Given the description of an element on the screen output the (x, y) to click on. 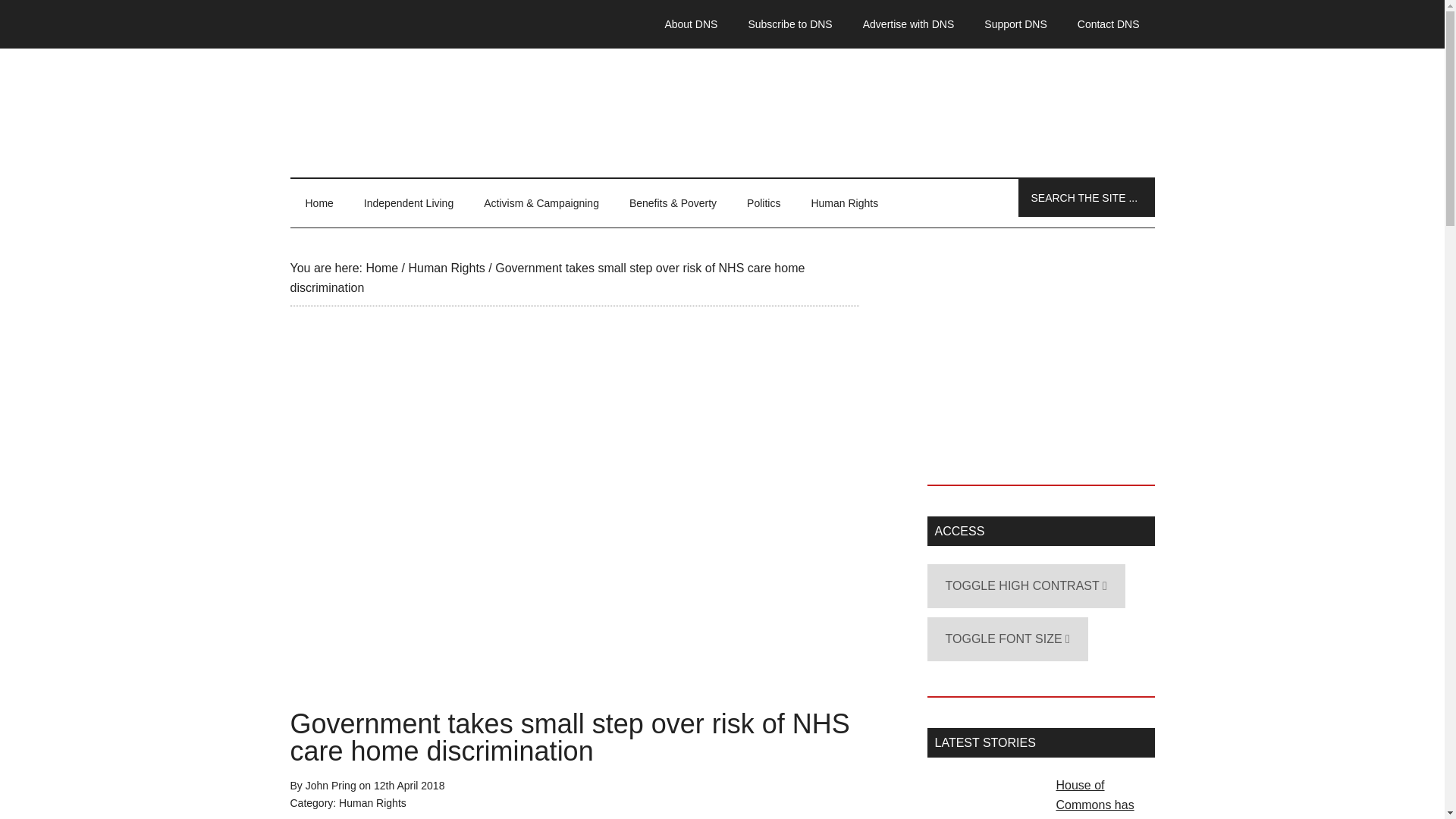
Advertise with DNS (908, 24)
Independent Living (408, 203)
Home (318, 203)
Support DNS (1015, 24)
Politics (763, 203)
About DNS (690, 24)
Disability News Service (721, 112)
Human Rights (843, 203)
Human Rights (372, 802)
